Given the description of an element on the screen output the (x, y) to click on. 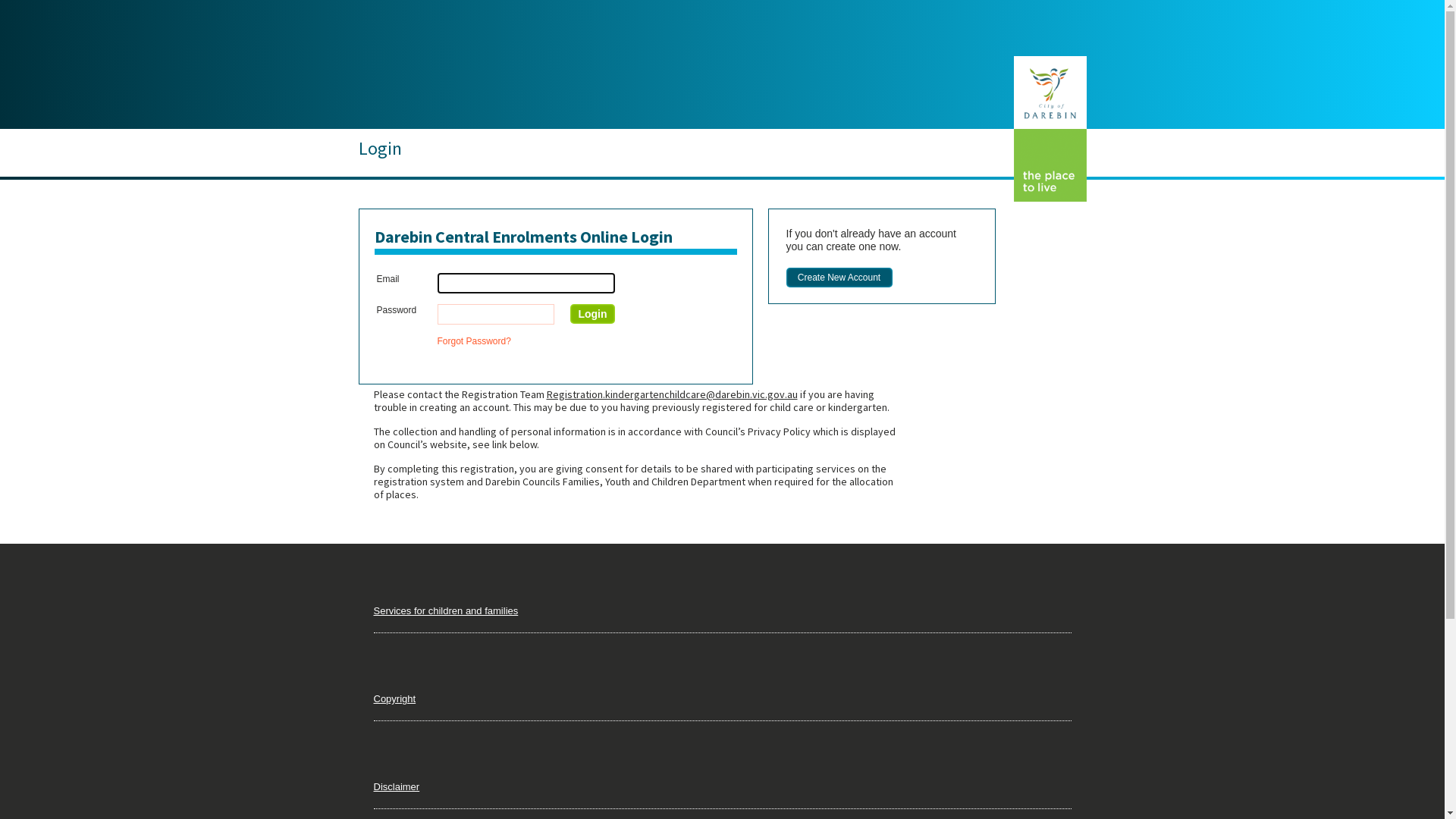
Login Element type: text (592, 313)
Disclaimer Element type: text (396, 786)
Forgot Password? Element type: text (473, 340)
Create New Account Element type: text (838, 277)
Registration.kindergartenchildcare@darebin.vic.gov.au Element type: text (671, 394)
Copyright Element type: text (394, 698)
Services for children and families Element type: text (445, 610)
